Given the description of an element on the screen output the (x, y) to click on. 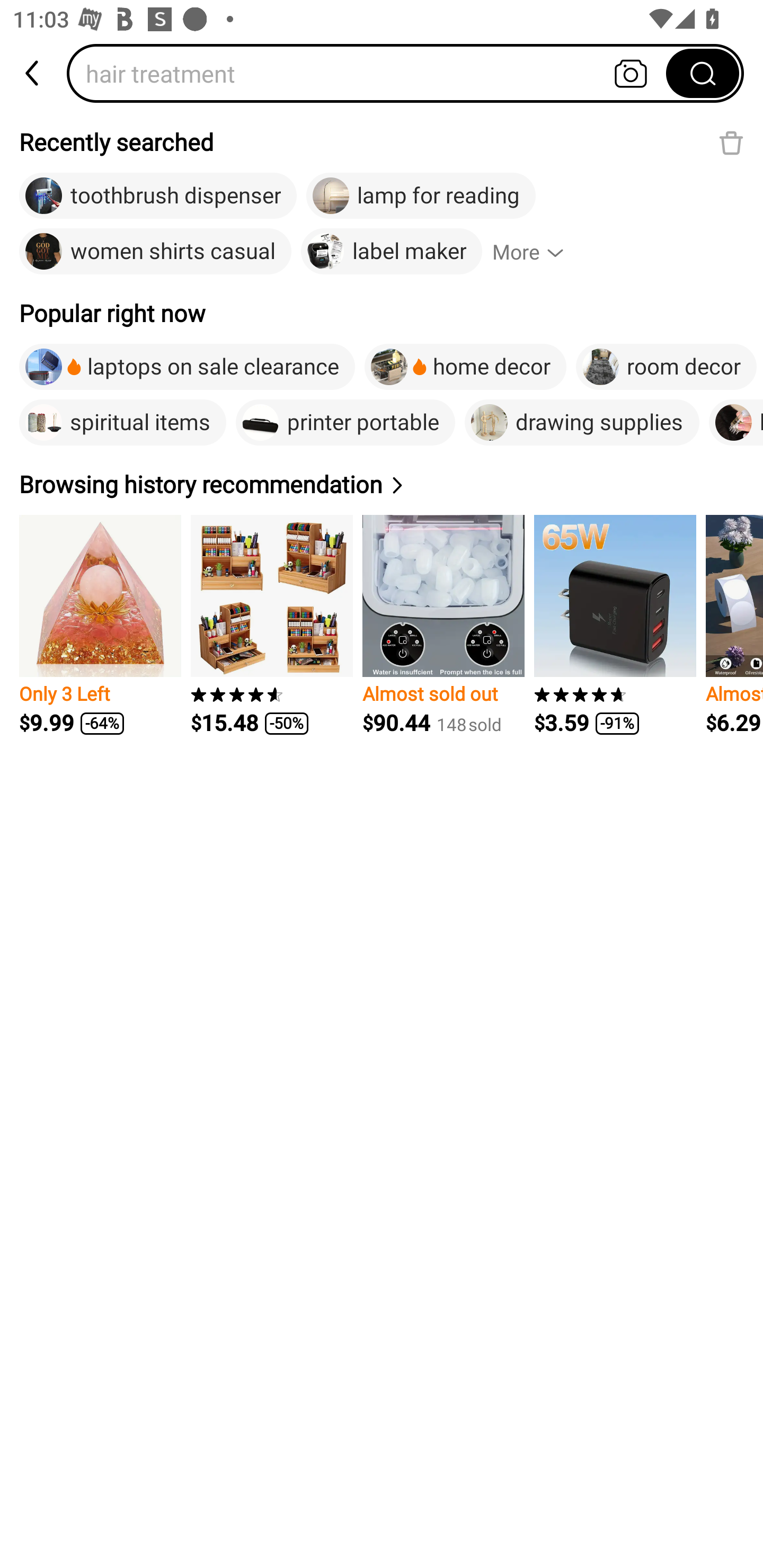
back (33, 72)
hair treatment (372, 73)
Search by photo (630, 73)
Delete recent search (731, 142)
toothbrush dispenser (157, 195)
lamp for reading (420, 195)
women shirts casual (155, 251)
label maker (391, 251)
More (535, 251)
laptops on sale clearance (186, 366)
home decor (465, 366)
room decor (666, 366)
spiritual items (122, 422)
printer portable (345, 422)
drawing supplies (581, 422)
hair care (735, 422)
Browsing history recommendation (213, 484)
Only 3 Left $9.99 -64% (100, 625)
$15.48 -50% (271, 625)
Almost sold out $90.44 148￼sold (443, 625)
$3.59 -91% (614, 625)
